Given the description of an element on the screen output the (x, y) to click on. 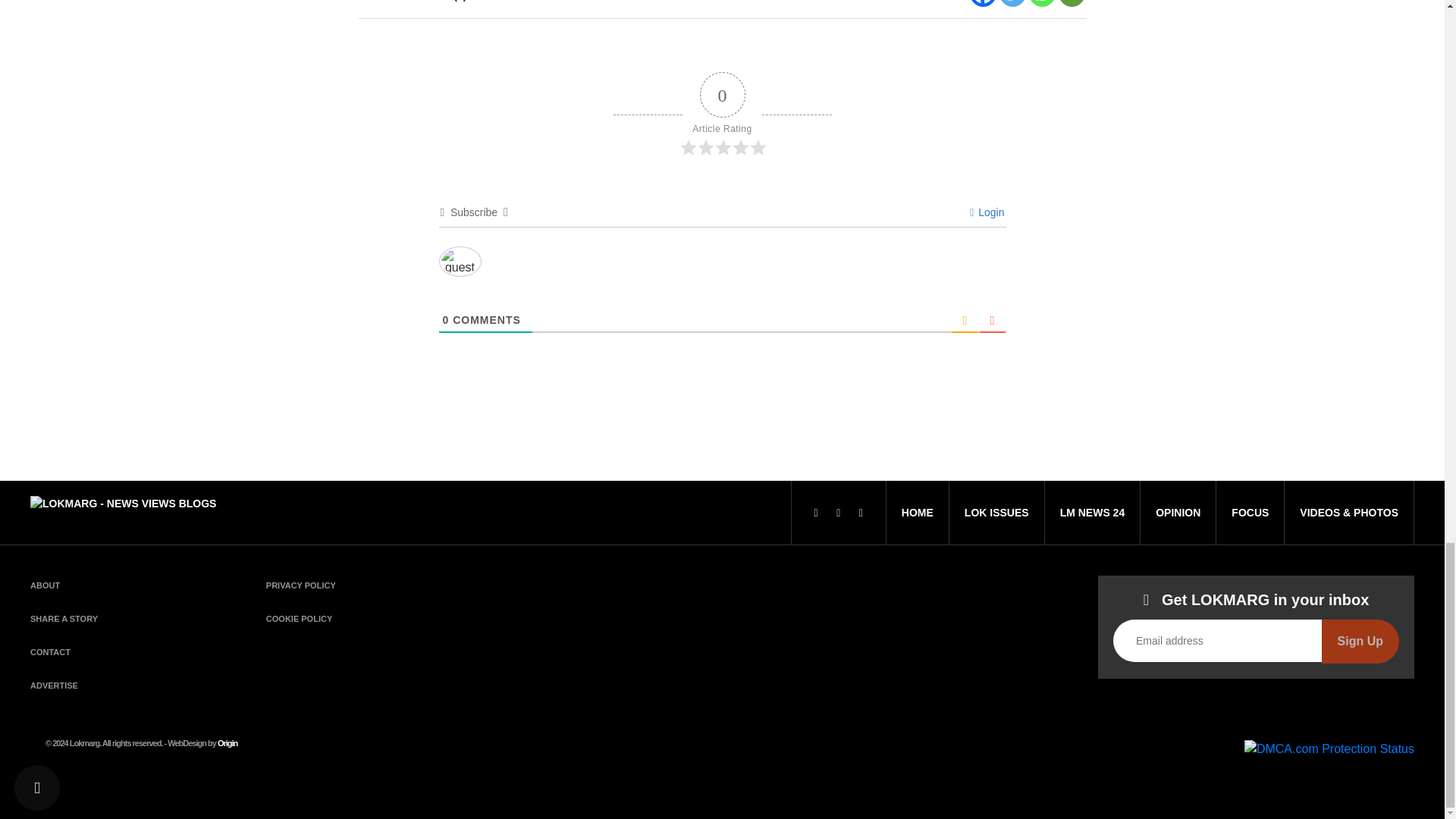
Login (986, 212)
Sign Up (1360, 641)
